Given the description of an element on the screen output the (x, y) to click on. 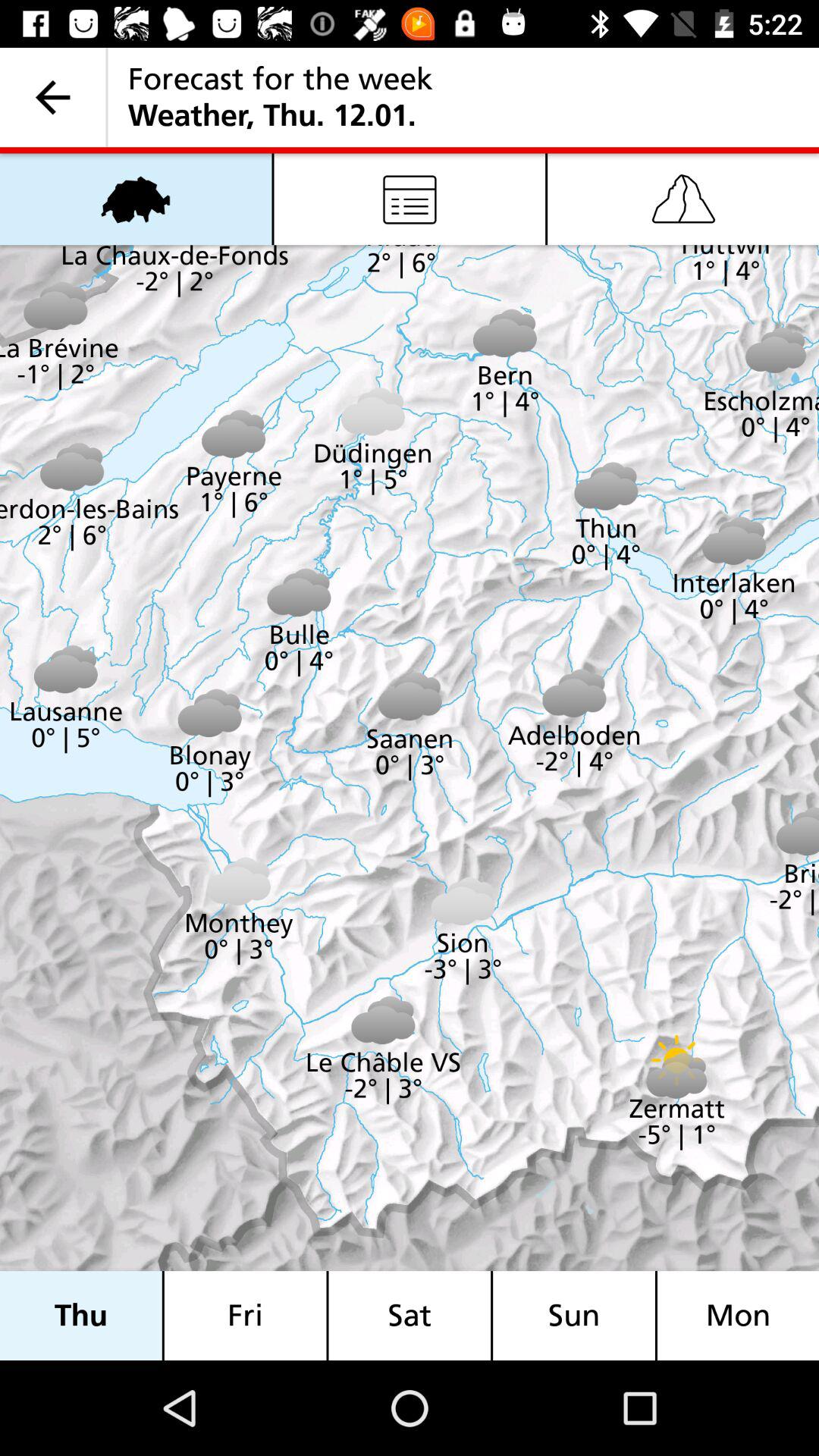
turn on item next to the forecast for the item (52, 97)
